Given the description of an element on the screen output the (x, y) to click on. 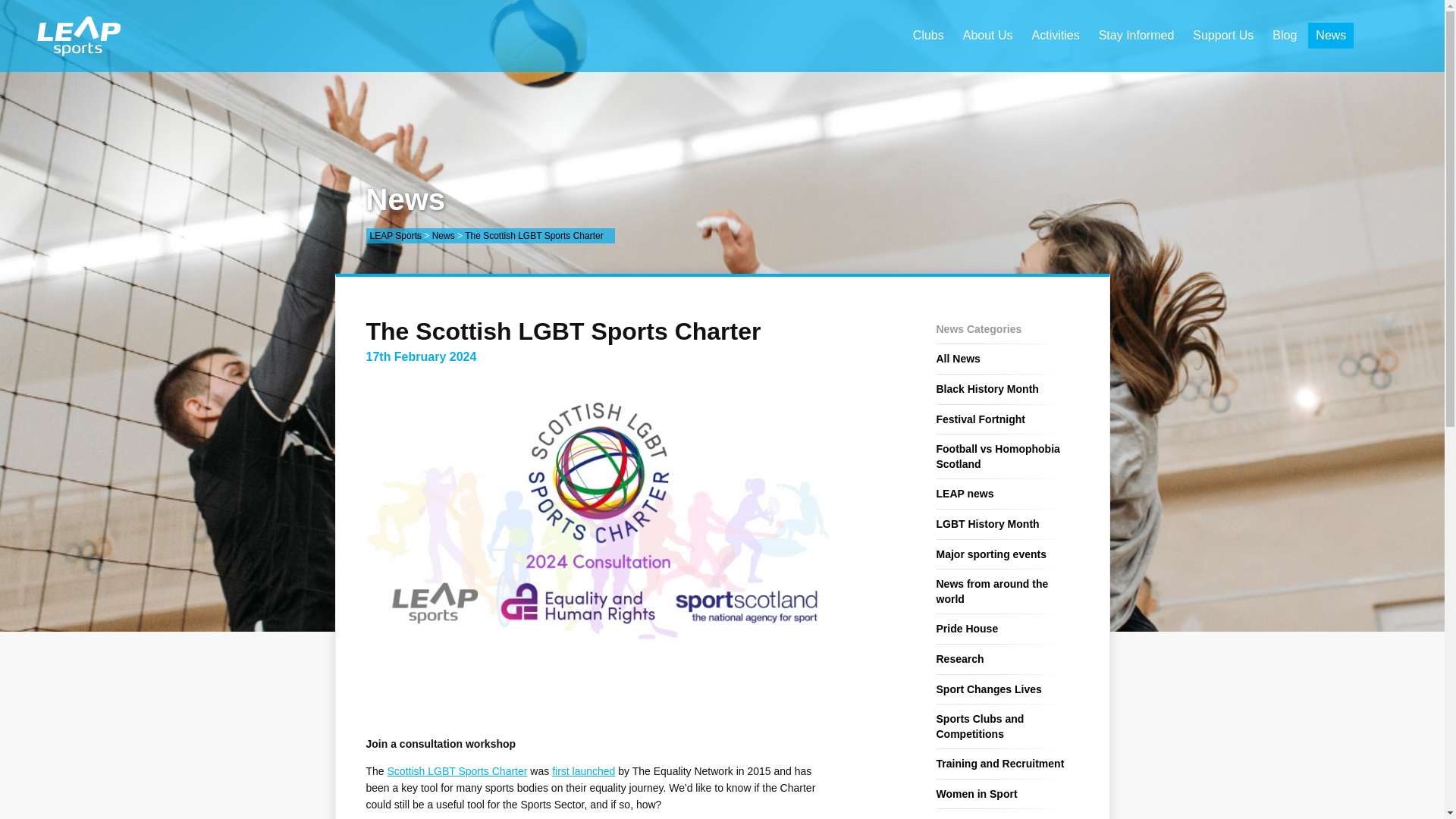
About Us (987, 35)
Activities (1056, 35)
Support Us (1222, 35)
Stay Informed (1136, 35)
News (1330, 35)
Clubs (928, 35)
Blog (1284, 35)
